Given the description of an element on the screen output the (x, y) to click on. 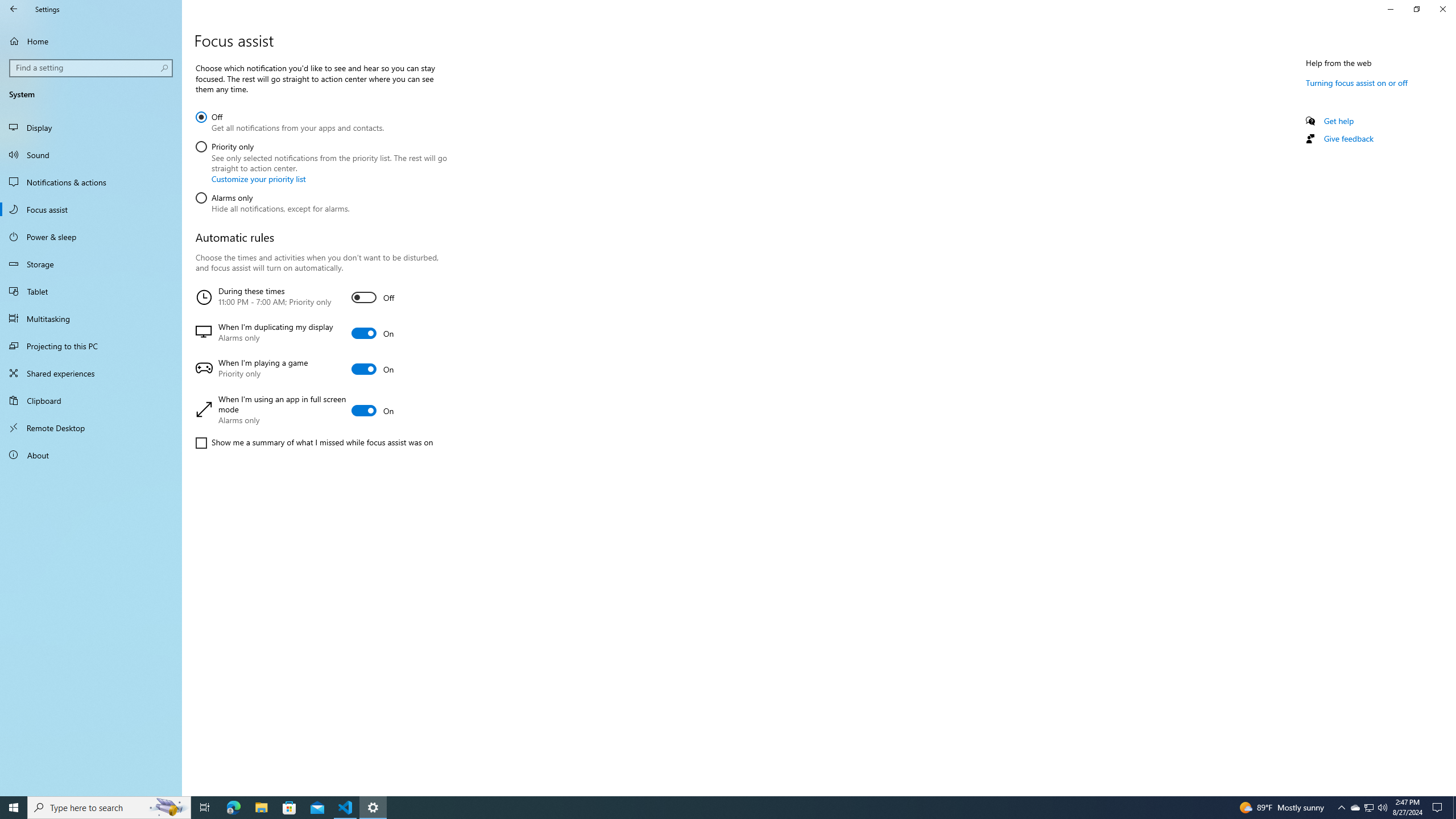
Clipboard (91, 400)
Sound (91, 154)
Turning focus assist on or off (1356, 82)
File Explorer (261, 807)
Home (91, 40)
During these times (319, 297)
Off (1355, 807)
About (289, 120)
Customize your priority list (91, 454)
Notifications & actions (258, 178)
When I'm playing a game (91, 181)
Start (319, 369)
Focus assist (13, 807)
